Given the description of an element on the screen output the (x, y) to click on. 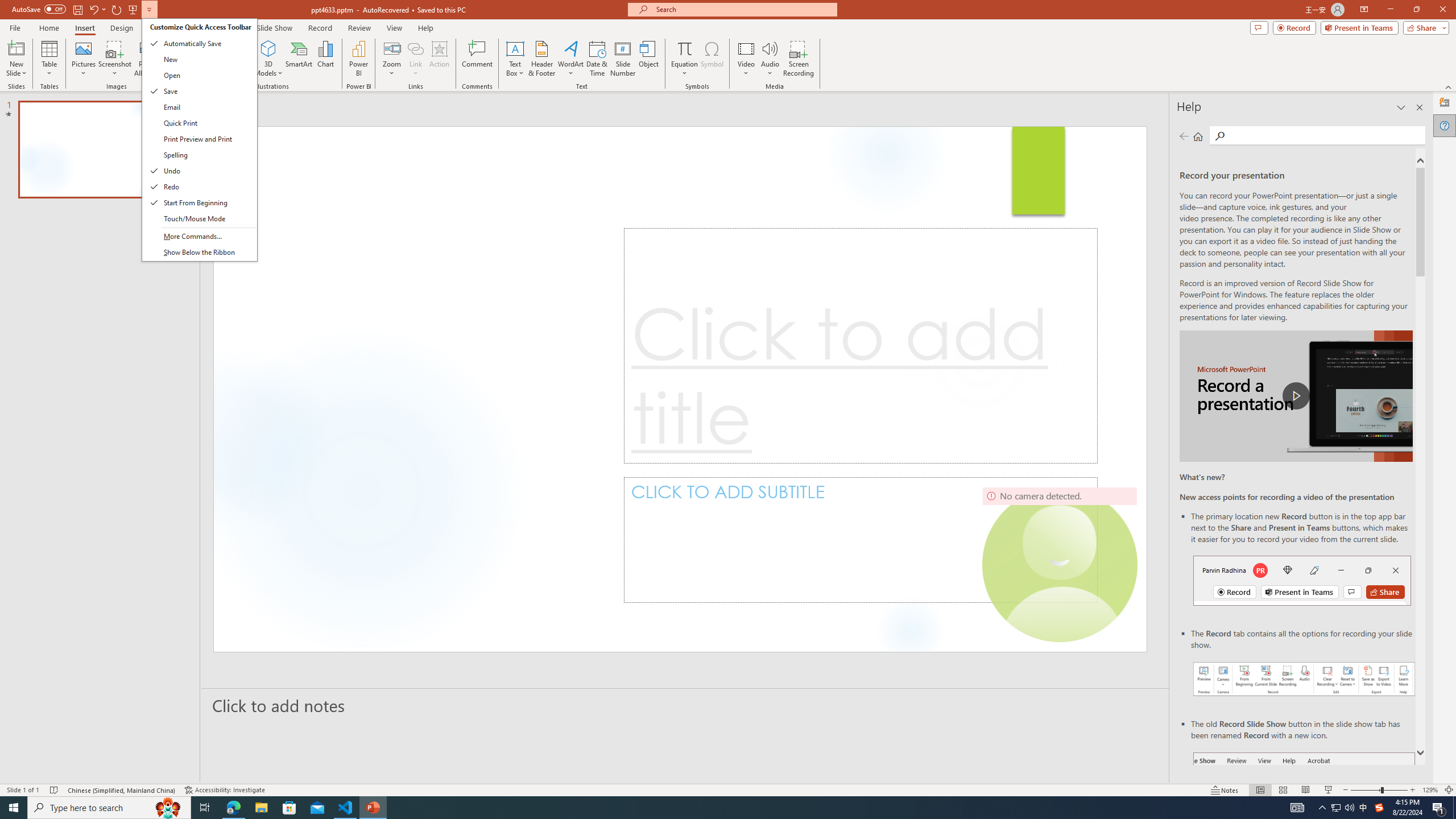
play Record a Presentation (1296, 395)
